Given the description of an element on the screen output the (x, y) to click on. 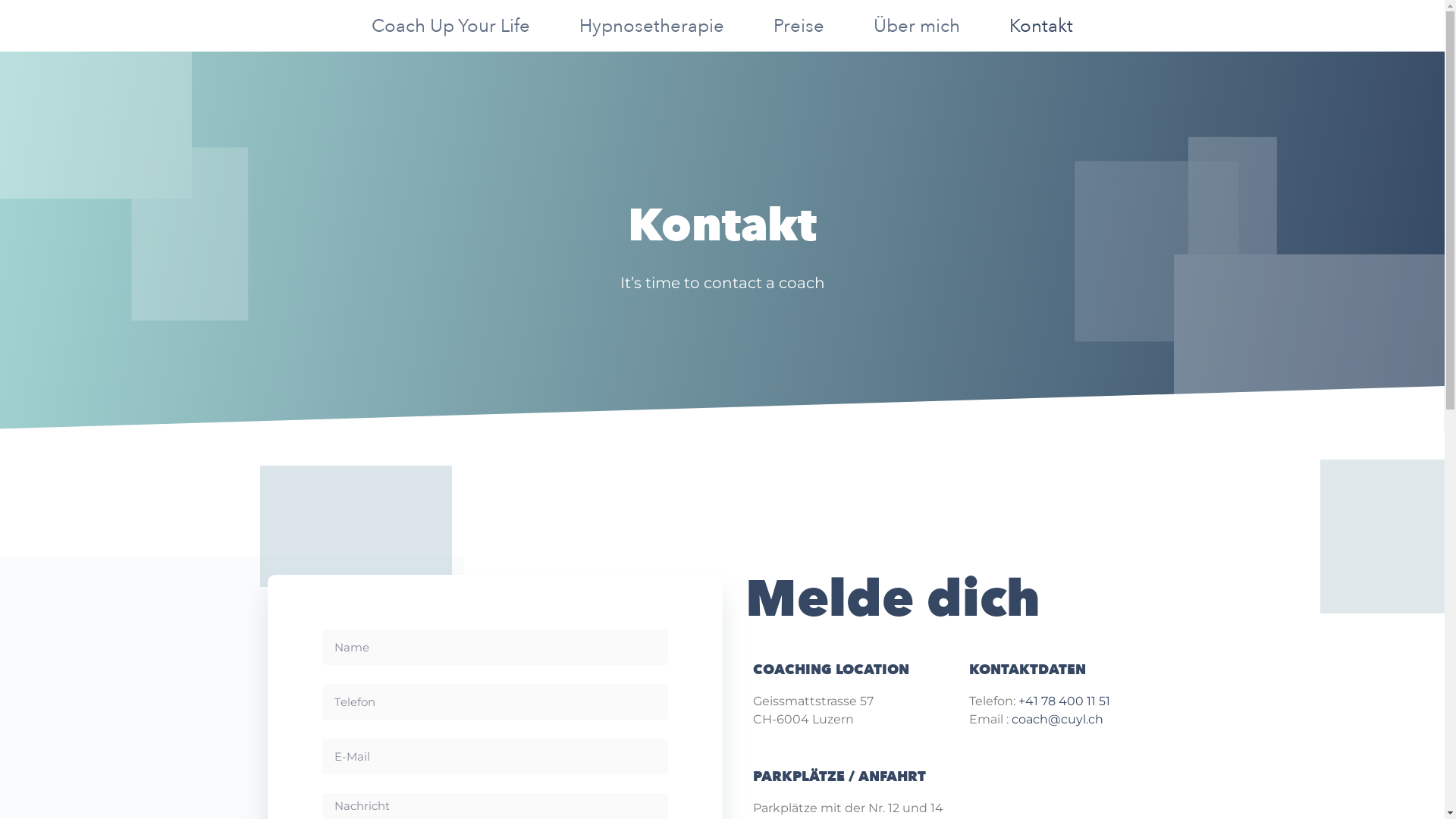
Hypnosetherapie Element type: text (651, 26)
+41 78 400 11 51 Element type: text (1063, 700)
Preise Element type: text (798, 26)
Coach Up Your Life Element type: text (450, 26)
Kontakt Element type: text (1041, 26)
coach@cuyl.ch Element type: text (1057, 719)
